Given the description of an element on the screen output the (x, y) to click on. 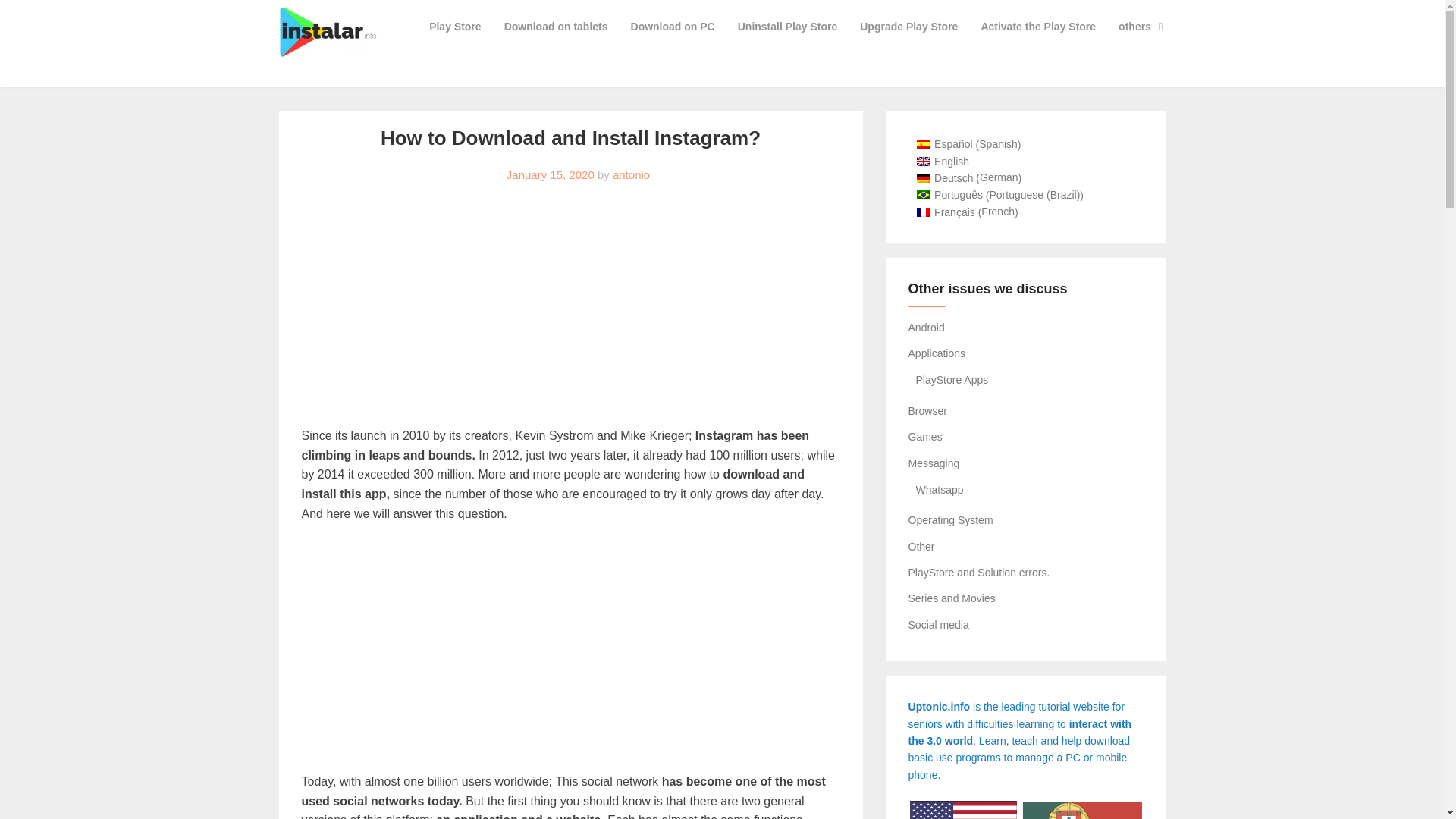
Browser (927, 410)
Whatsapp (939, 490)
Games (925, 436)
Activate the Play Store (1037, 26)
Series and Movies (951, 598)
Social media (938, 624)
PlayStore and Solution errors. (978, 572)
others (1141, 26)
Uninstall Play Store (787, 26)
Download on tablets (556, 26)
Messaging (933, 463)
Play Store (454, 26)
Download on PC (673, 26)
Applications (937, 353)
English (942, 159)
